Given the description of an element on the screen output the (x, y) to click on. 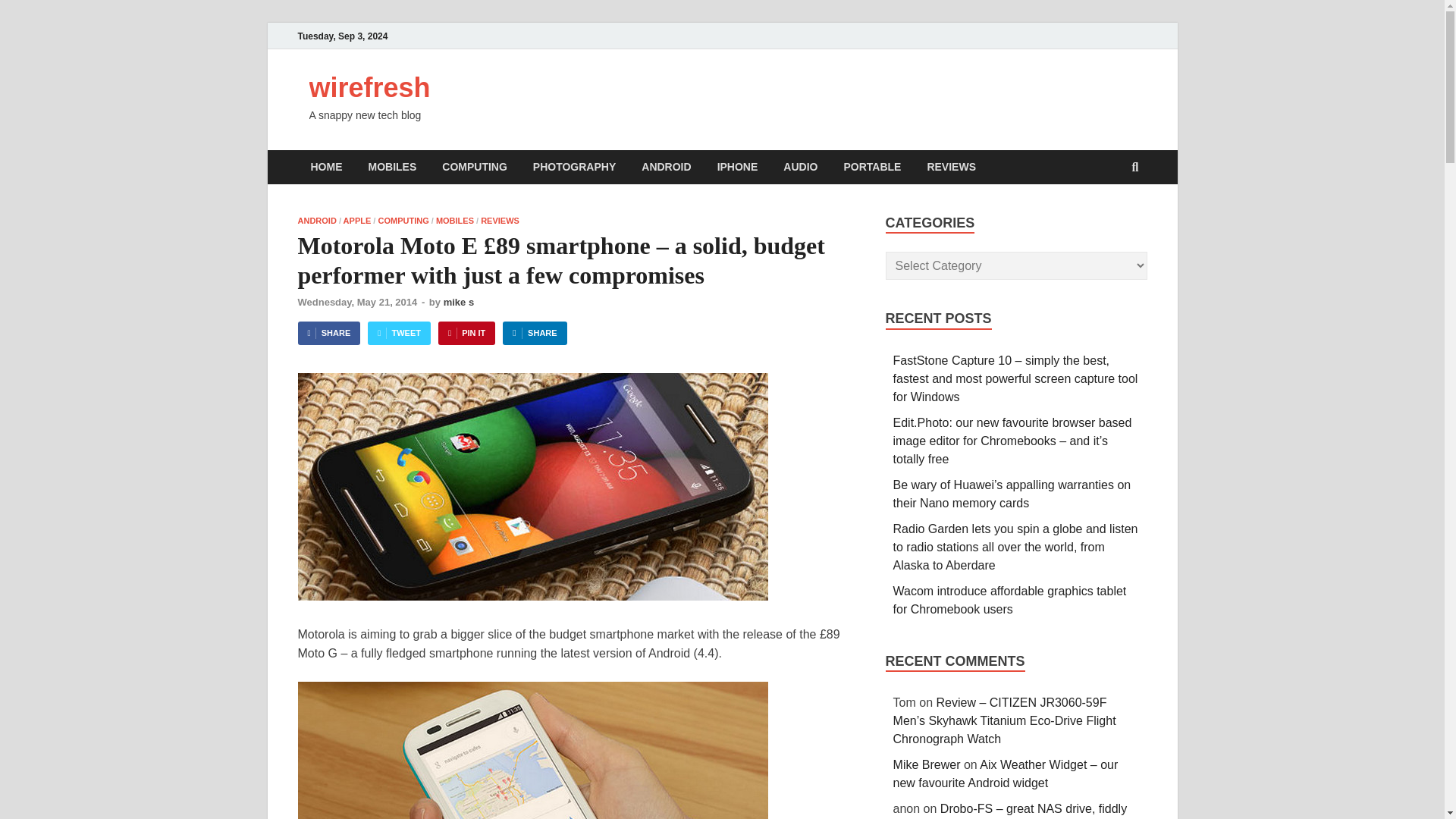
ANDROID (665, 166)
TWEET (399, 332)
APPLE (357, 220)
PHOTOGRAPHY (573, 166)
IPHONE (737, 166)
MOBILES (392, 166)
PORTABLE (871, 166)
AUDIO (799, 166)
SHARE (534, 332)
Wednesday, May 21, 2014 (356, 301)
